Given the description of an element on the screen output the (x, y) to click on. 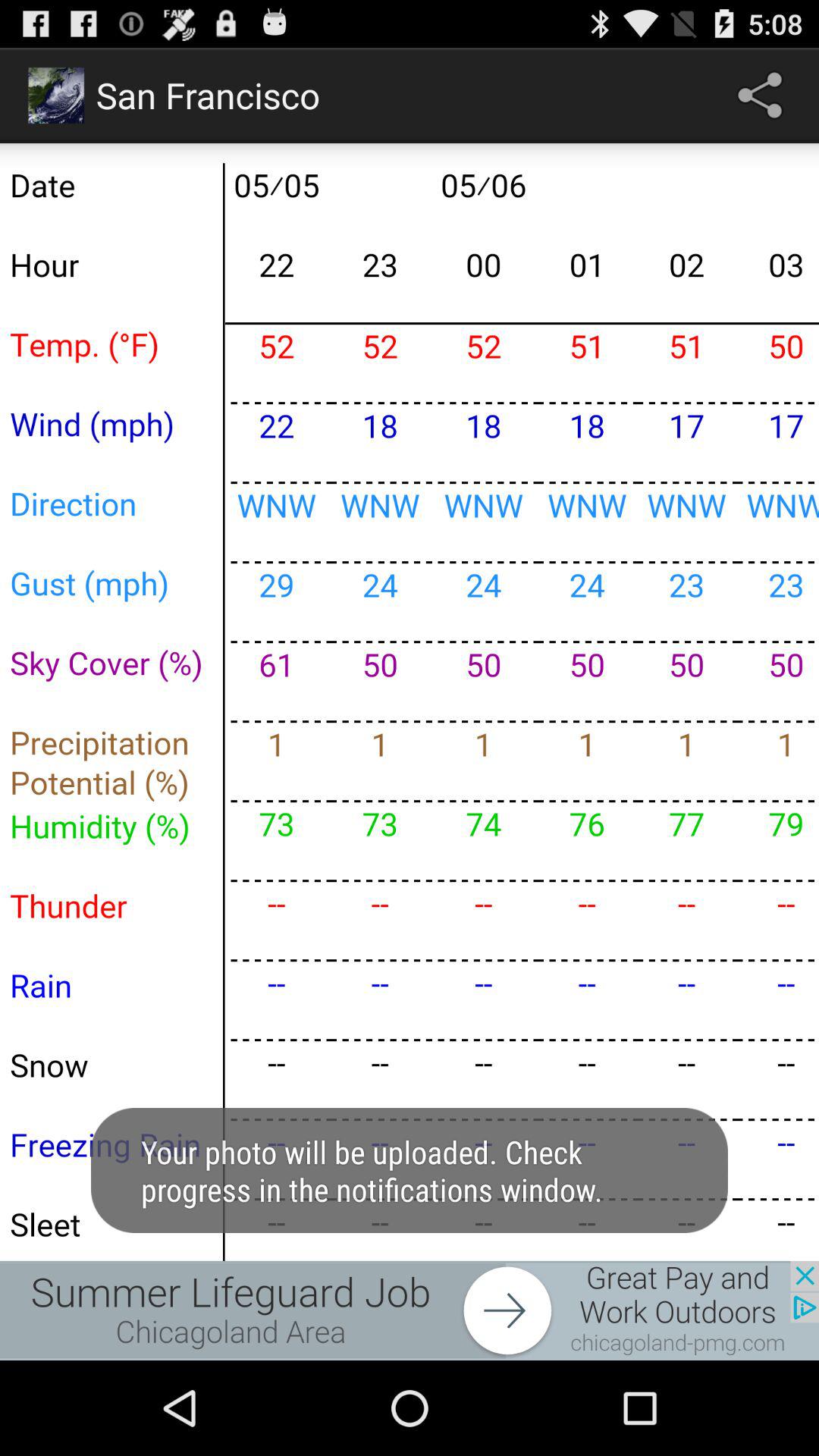
open advertisement (409, 1310)
